Given the description of an element on the screen output the (x, y) to click on. 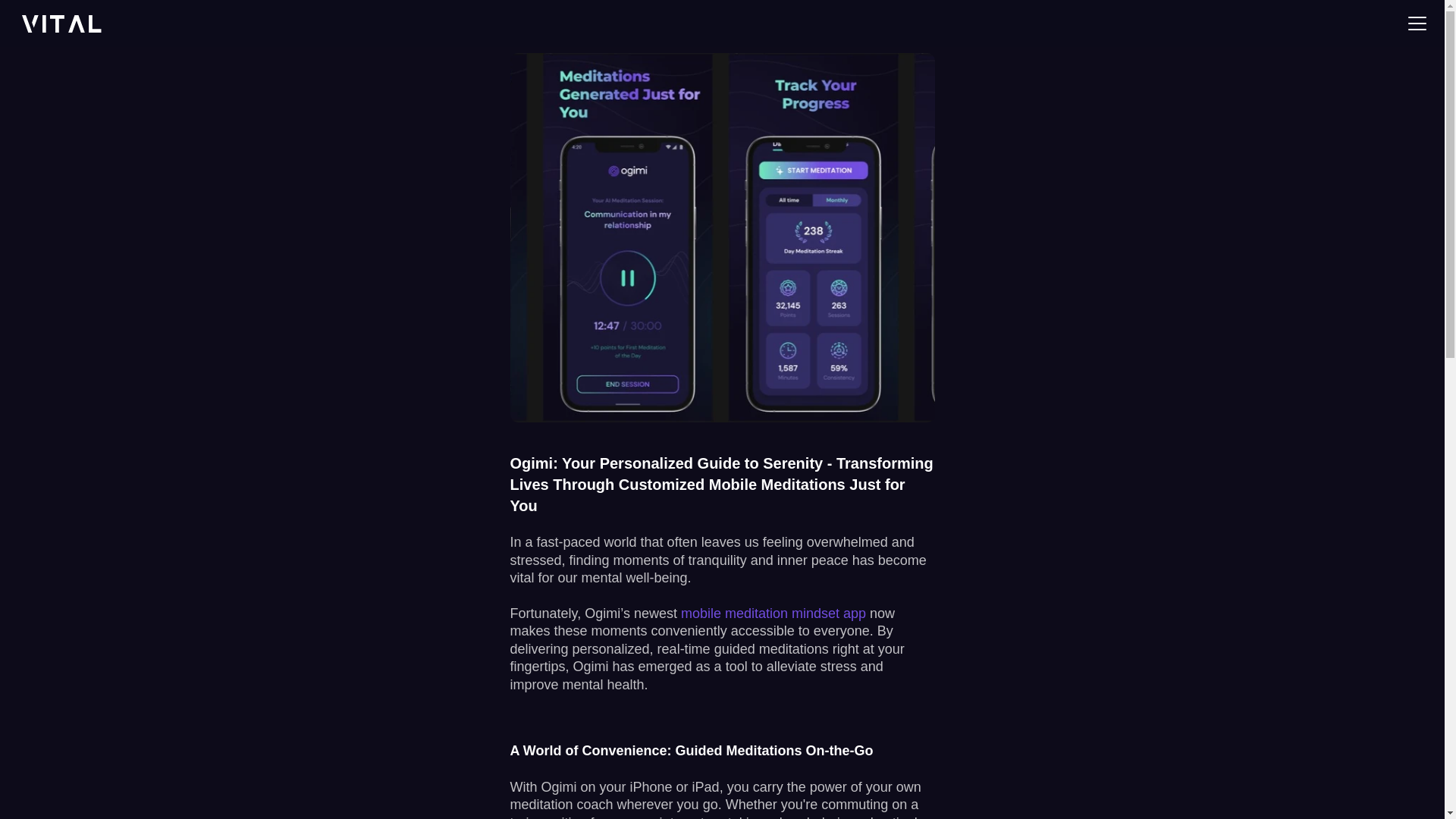
mobile meditation mindset app (773, 613)
